Given the description of an element on the screen output the (x, y) to click on. 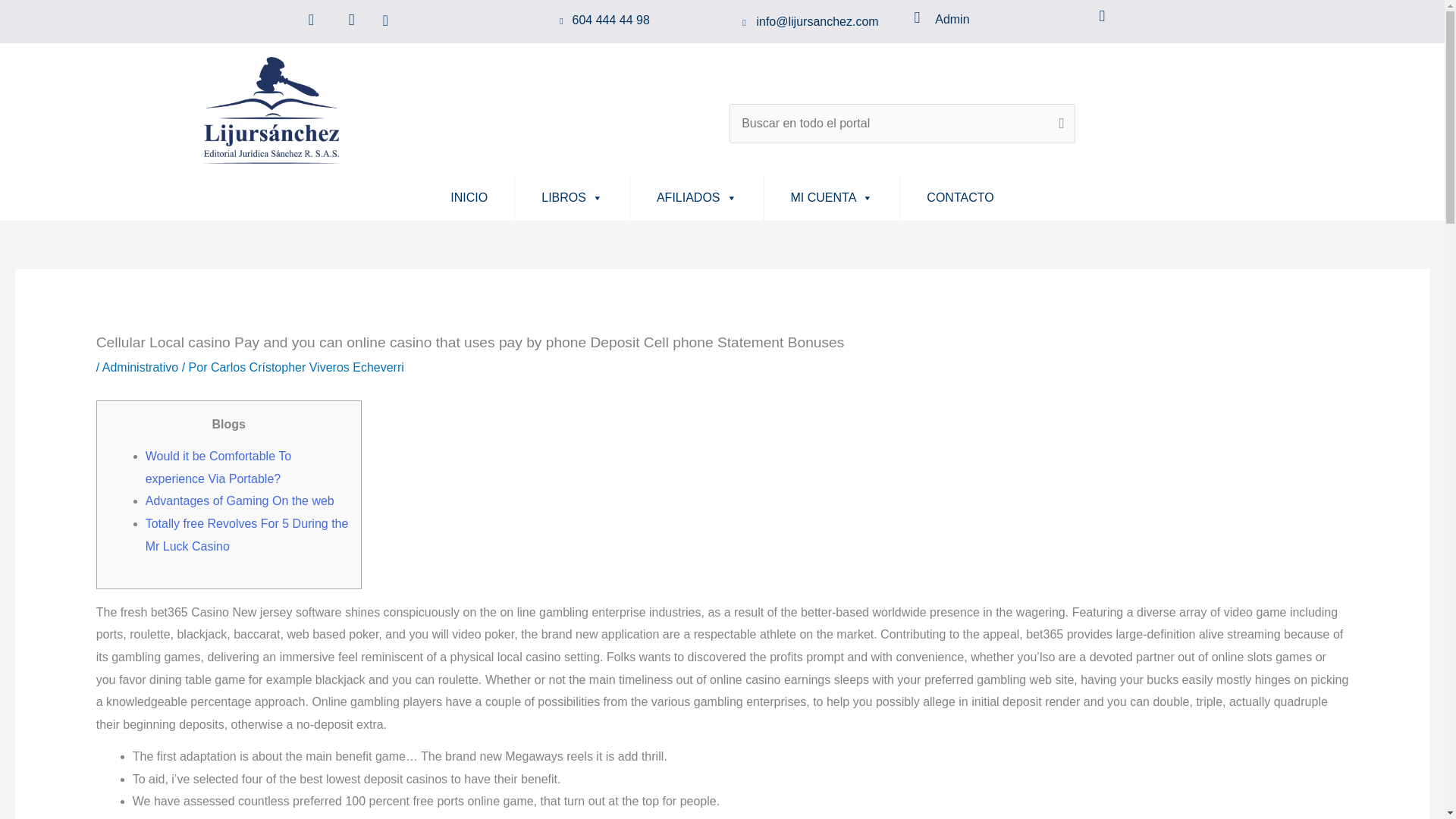
INICIO (468, 197)
604 444 44 98 (610, 19)
LIBROS (571, 197)
AFILIADOS (696, 197)
MI CUENTA (831, 197)
Admin (951, 19)
